Given the description of an element on the screen output the (x, y) to click on. 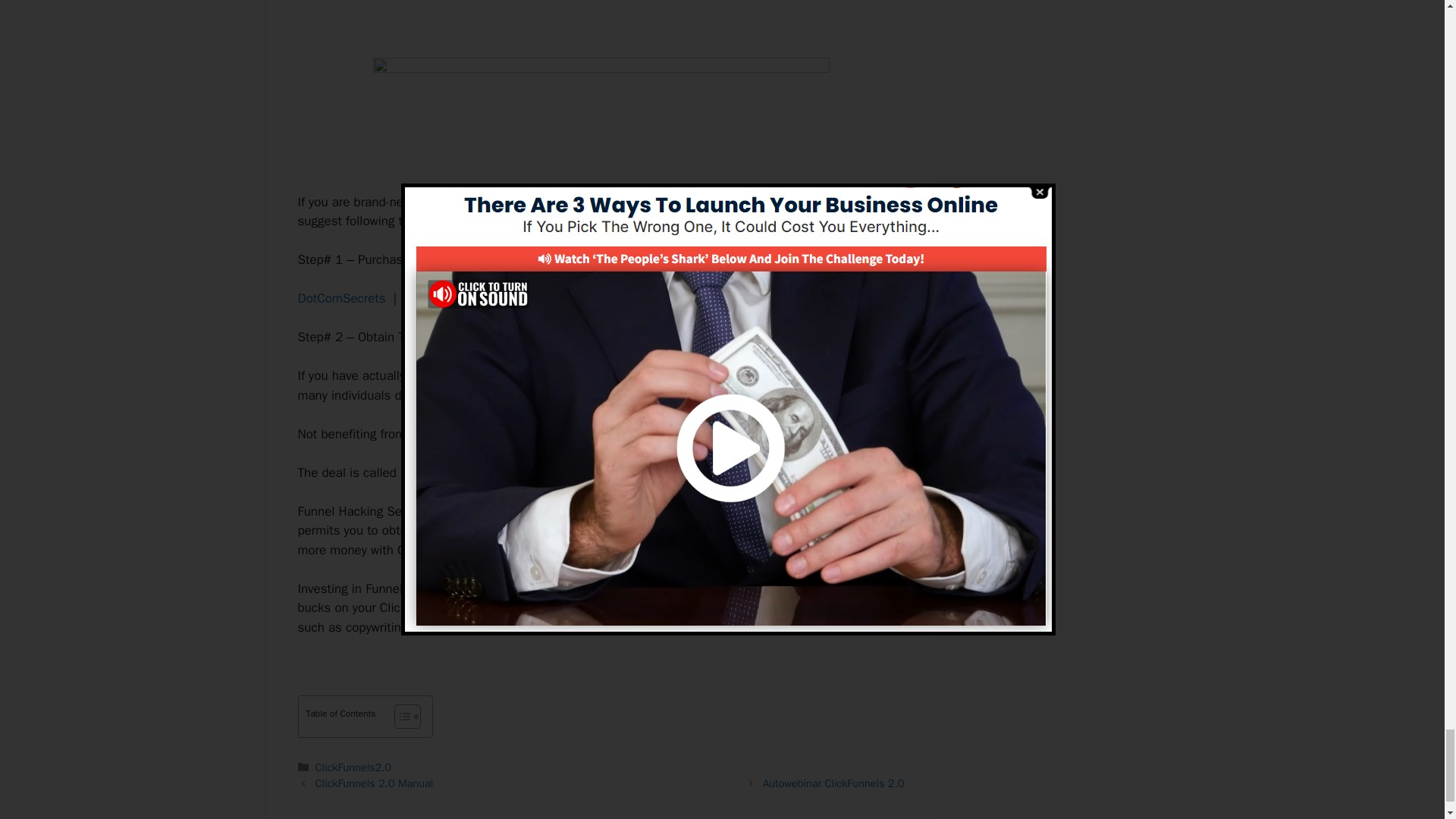
ClickFunnels 2.0 (520, 375)
DotComSecrets (341, 298)
Traffic Secrets (545, 298)
Expert Secrets (445, 298)
Funnel Builder Secrets (463, 472)
